Given the description of an element on the screen output the (x, y) to click on. 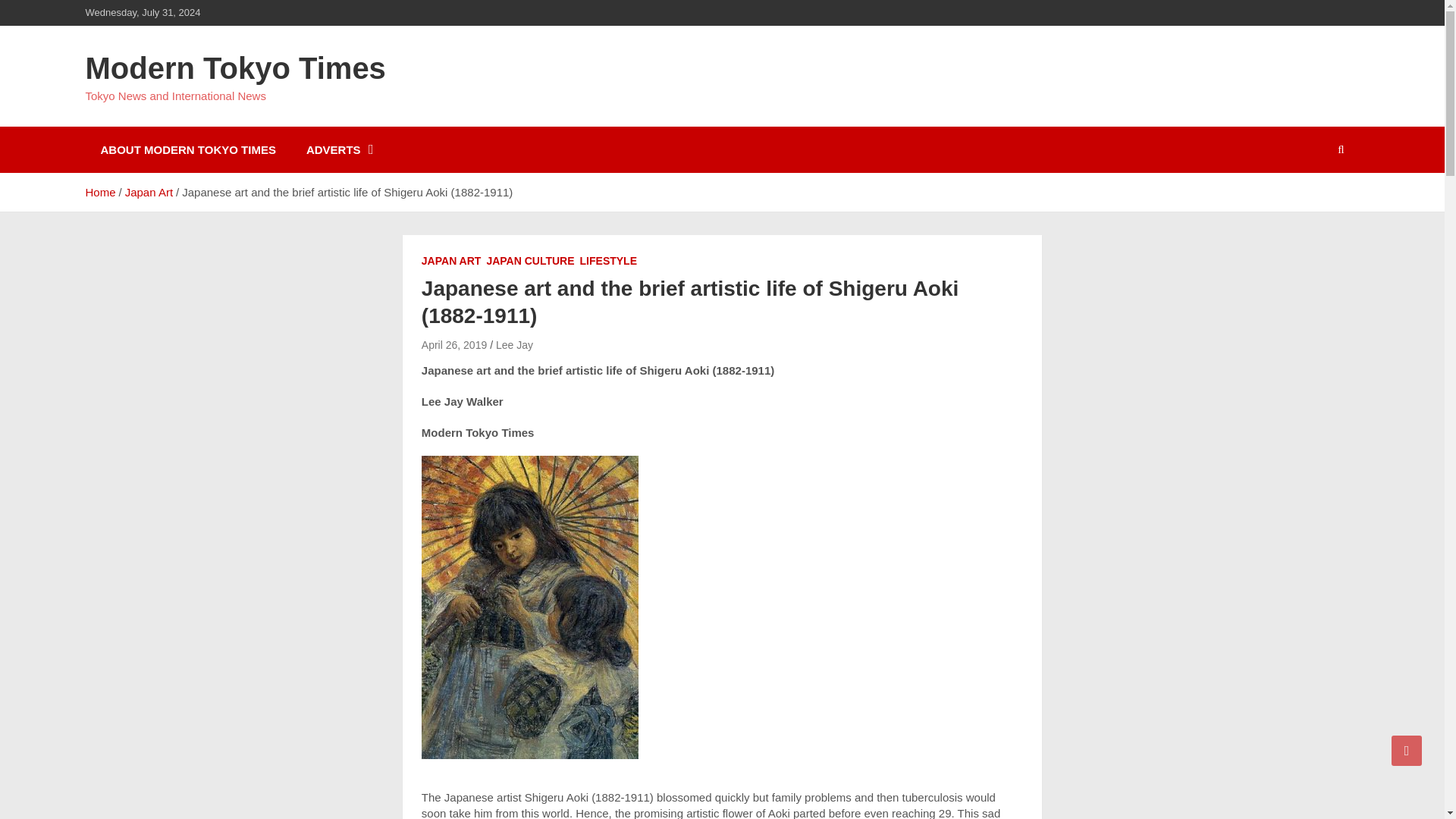
ADVERTS (338, 149)
Go to Top (1406, 750)
ABOUT MODERN TOKYO TIMES (186, 149)
Japan Art (149, 192)
Modern Tokyo Times (234, 68)
Lee Jay (514, 345)
April 26, 2019 (454, 345)
Home (99, 192)
JAPAN CULTURE (529, 261)
LIFESTYLE (608, 261)
JAPAN ART (451, 261)
